Given the description of an element on the screen output the (x, y) to click on. 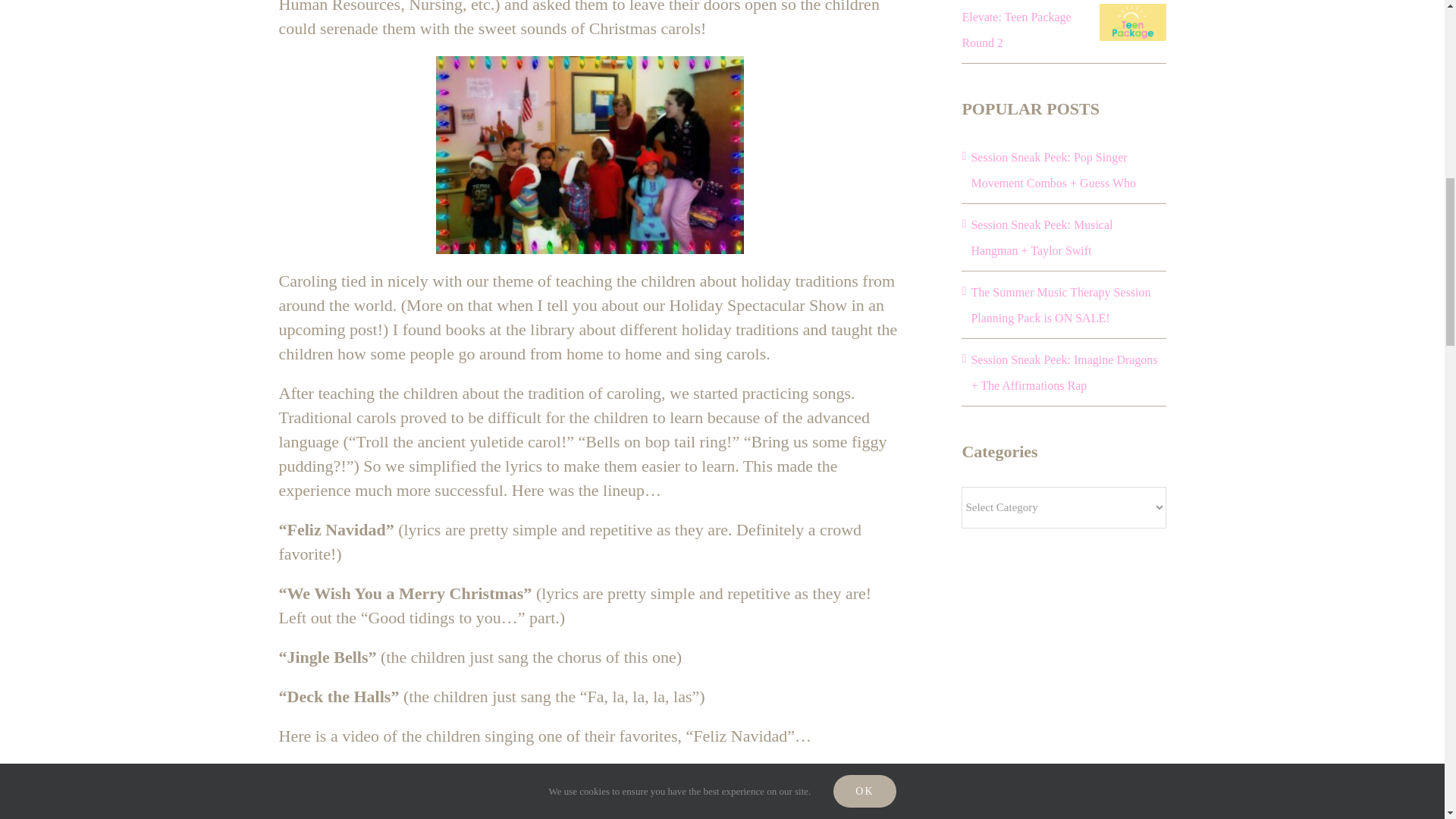
caroling2 (589, 154)
